Given the description of an element on the screen output the (x, y) to click on. 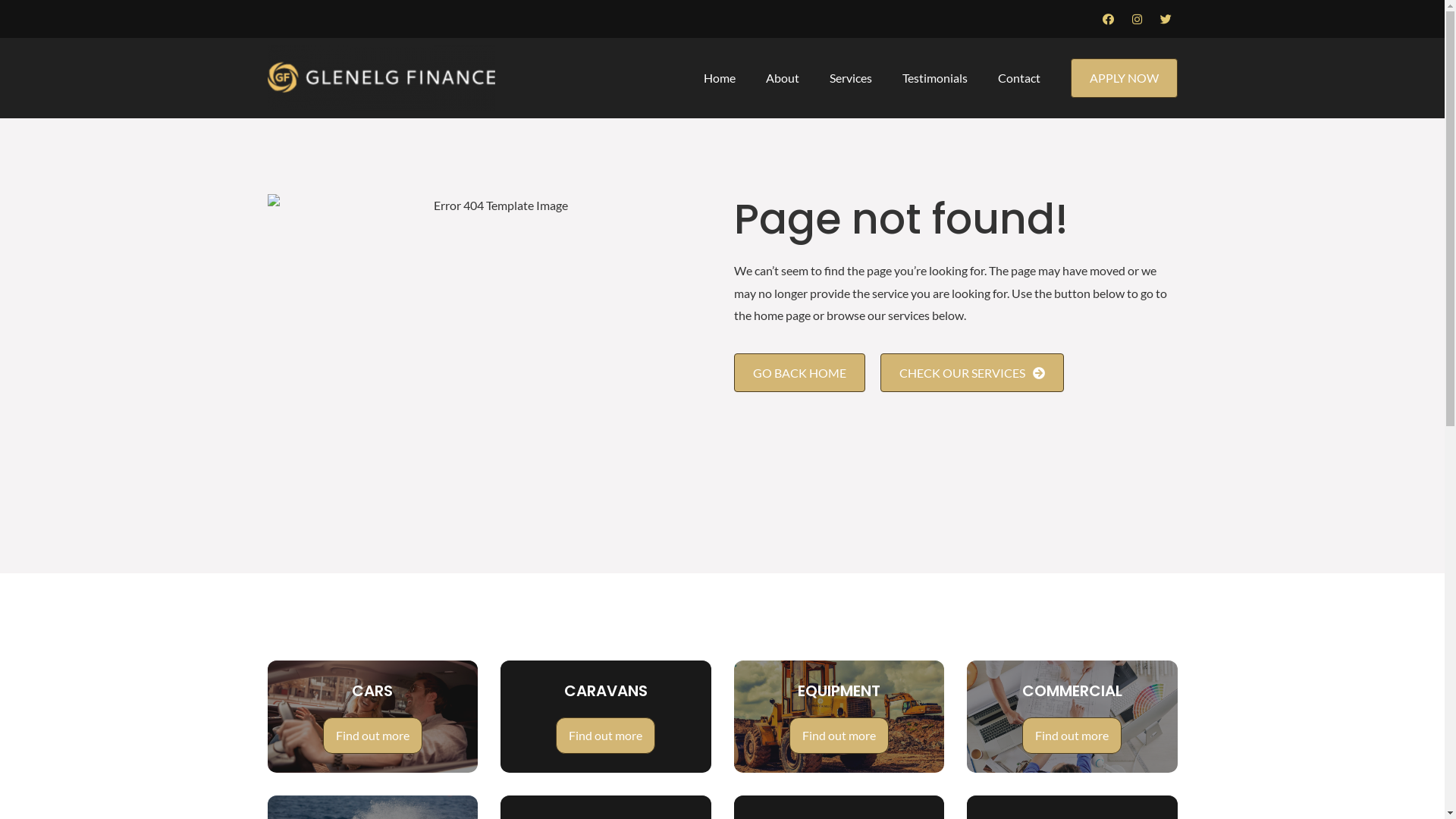
GO BACK HOME Element type: text (799, 372)
About Element type: text (782, 77)
Find out more Element type: text (372, 735)
Contact Element type: text (1018, 77)
APPLY NOW Element type: text (1123, 77)
Find out more Element type: text (605, 735)
Find out more Element type: text (838, 735)
Find out more Element type: text (1071, 735)
CHECK OUR SERVICES Element type: text (971, 372)
Home Element type: text (719, 77)
Testimonials Element type: text (934, 77)
Services Element type: text (850, 77)
